Given the description of an element on the screen output the (x, y) to click on. 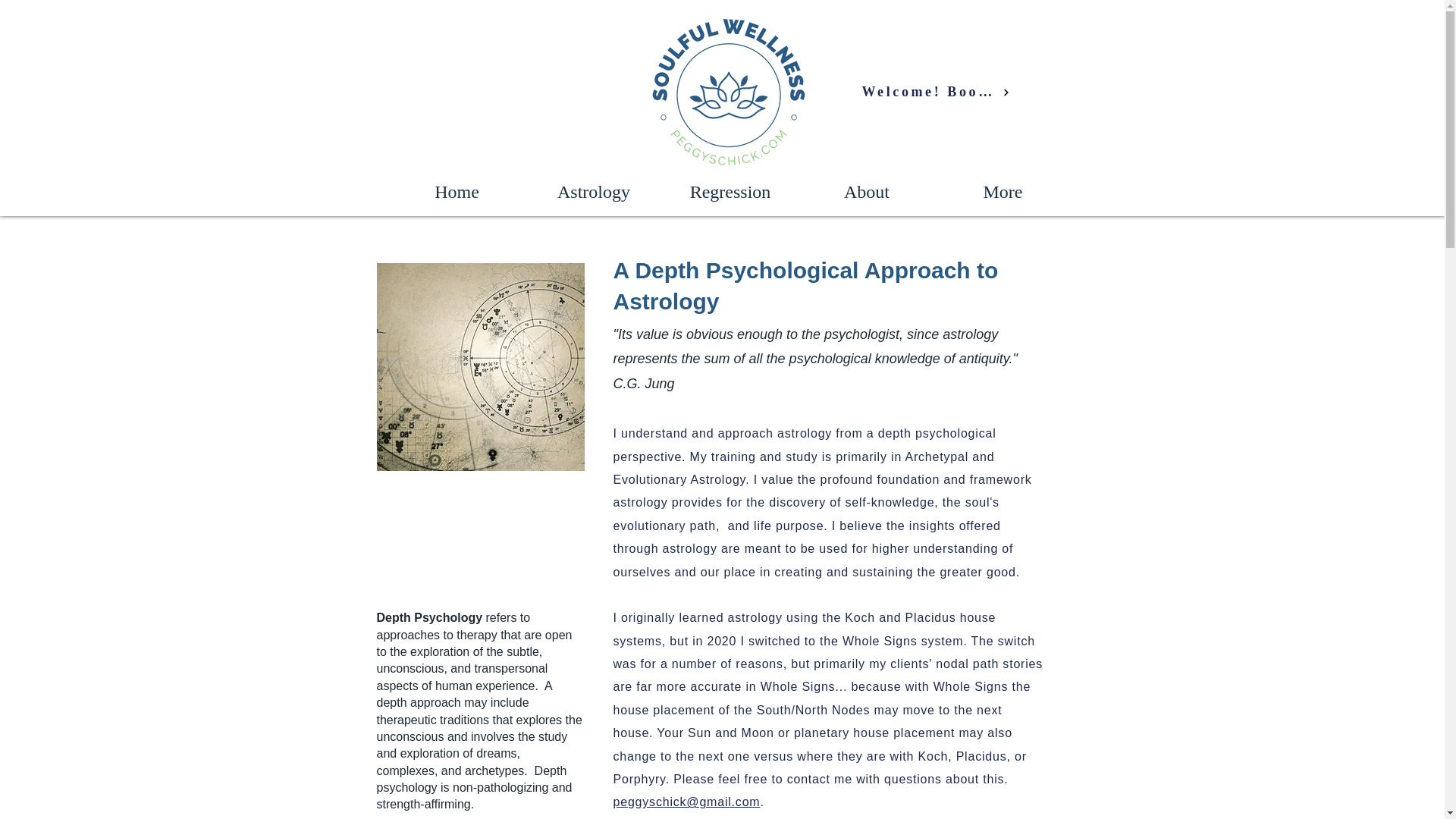
Welcome! Book Now (935, 92)
About (865, 191)
Home (456, 191)
Regression (729, 191)
More (1002, 191)
